Given the description of an element on the screen output the (x, y) to click on. 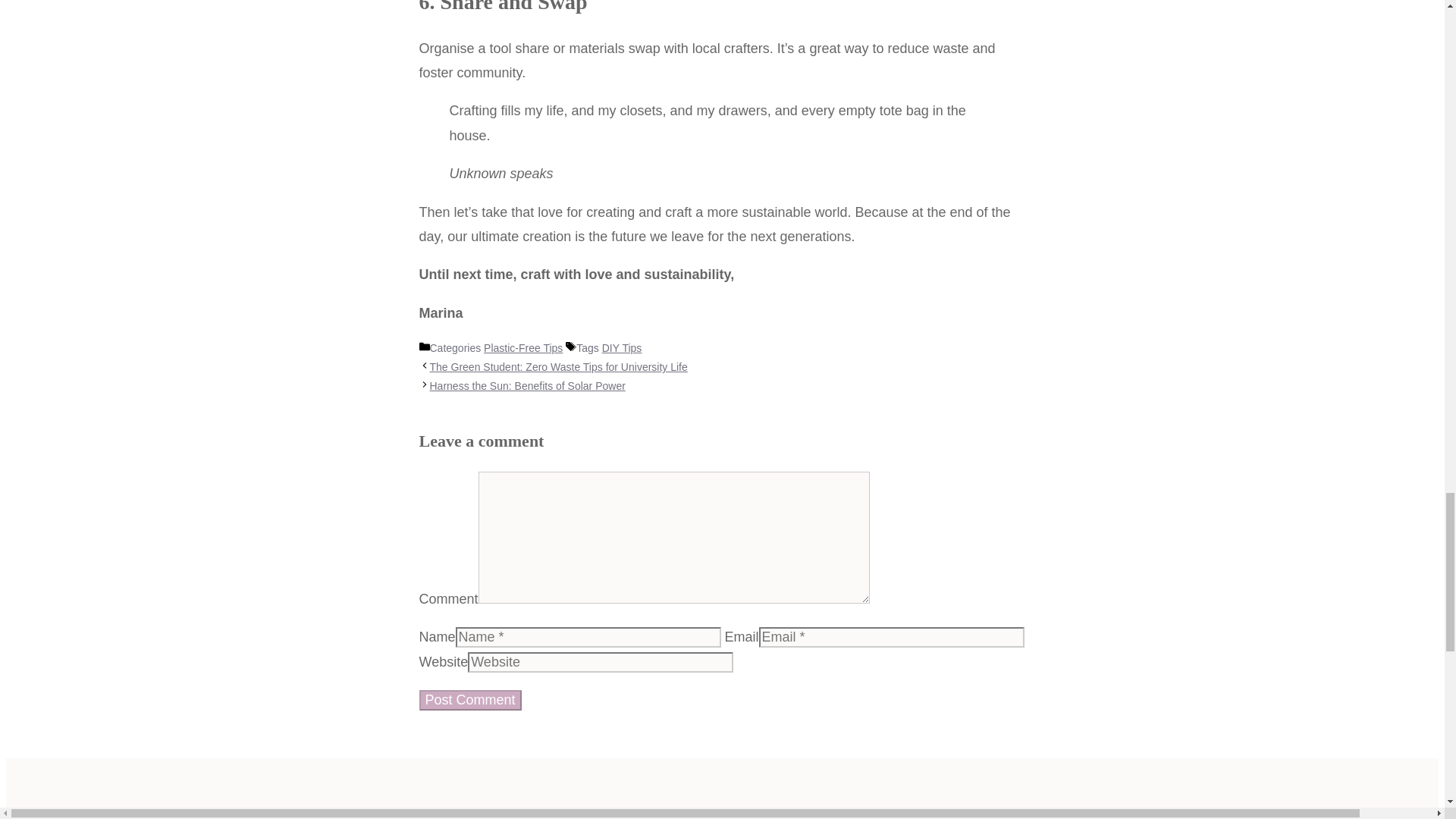
Post Comment (470, 700)
Post Comment (470, 700)
Plastic-Free Tips (522, 347)
The Green Student: Zero Waste Tips for University Life (558, 367)
DIY Tips (622, 347)
Harness the Sun: Benefits of Solar Power (526, 386)
